Given the description of an element on the screen output the (x, y) to click on. 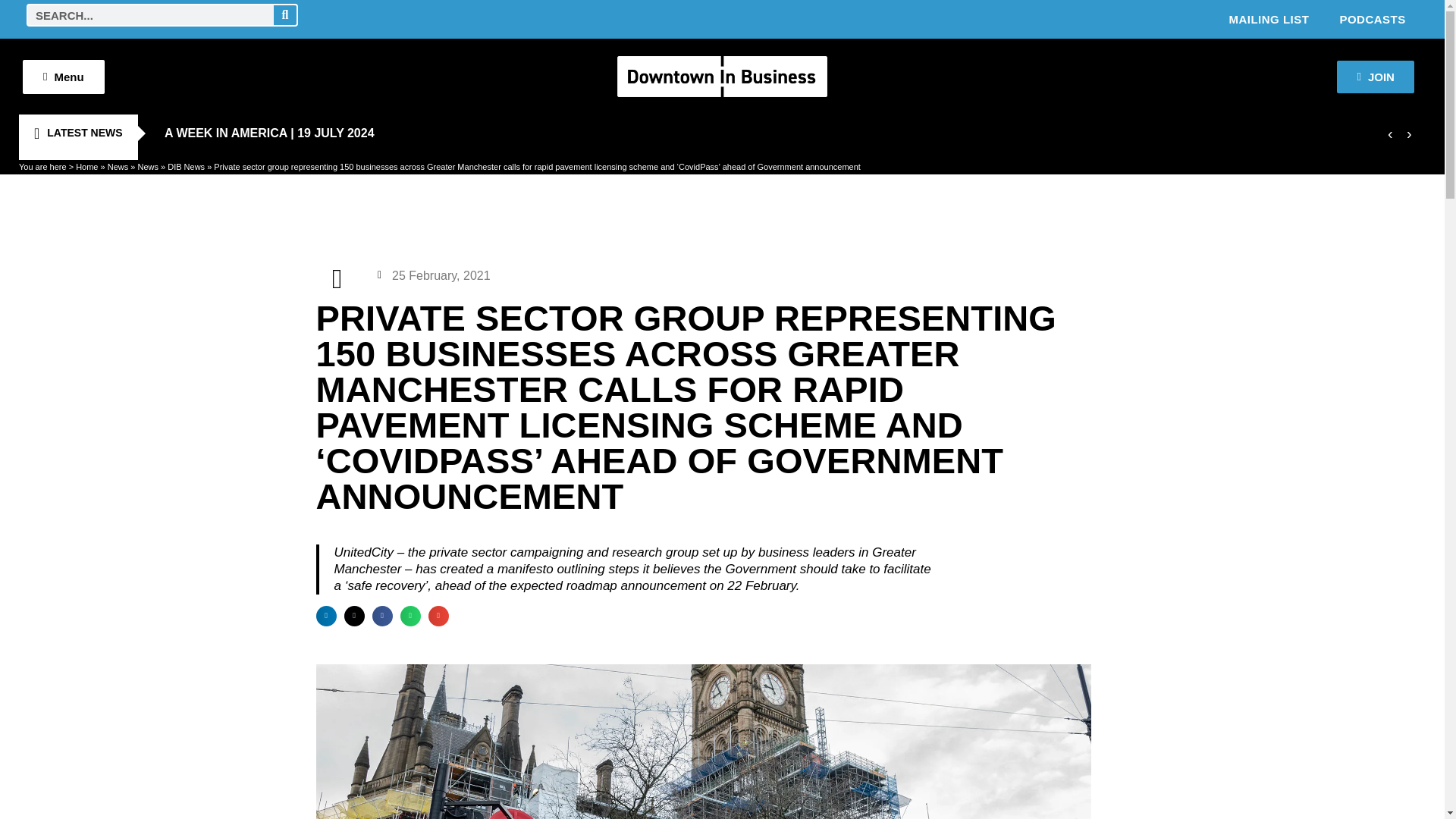
Skip to content (11, 31)
MAILING LIST (1267, 18)
JOIN (1374, 76)
25 February, 2021 (433, 275)
Menu (63, 75)
News (118, 166)
News (147, 166)
DIB News (186, 166)
Home (86, 166)
PODCASTS (1372, 18)
LATEST NEWS (77, 133)
